Given the description of an element on the screen output the (x, y) to click on. 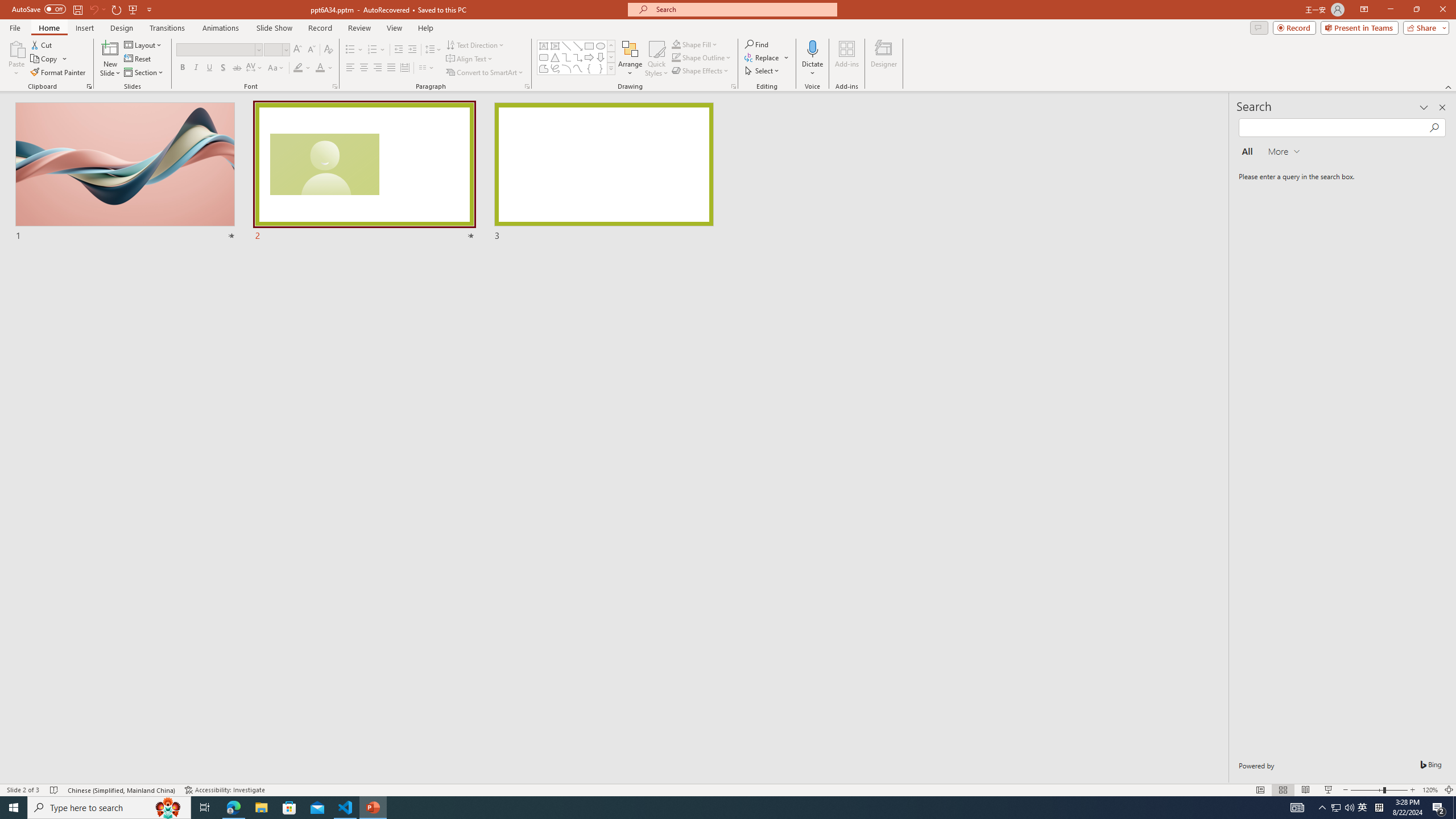
Shape Effects (700, 69)
